Given the description of an element on the screen output the (x, y) to click on. 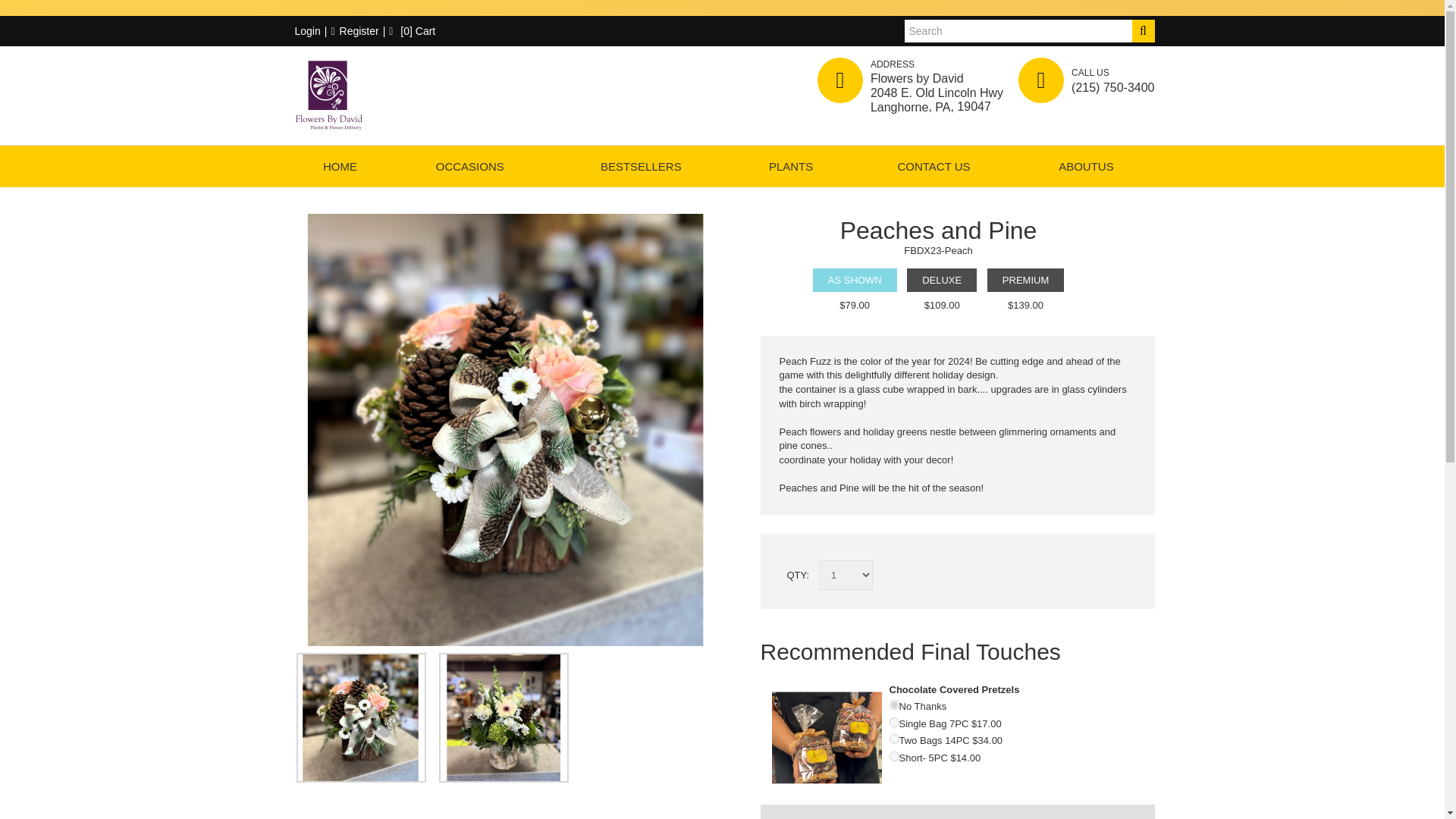
Login (304, 30)
ABOUTUS (1085, 166)
0 (893, 705)
1 (893, 722)
PREMIUM (1025, 279)
3 (893, 756)
BESTSELLERS (641, 166)
HOME (339, 166)
AS SHOWN (854, 279)
DELUXE (941, 279)
